Given the description of an element on the screen output the (x, y) to click on. 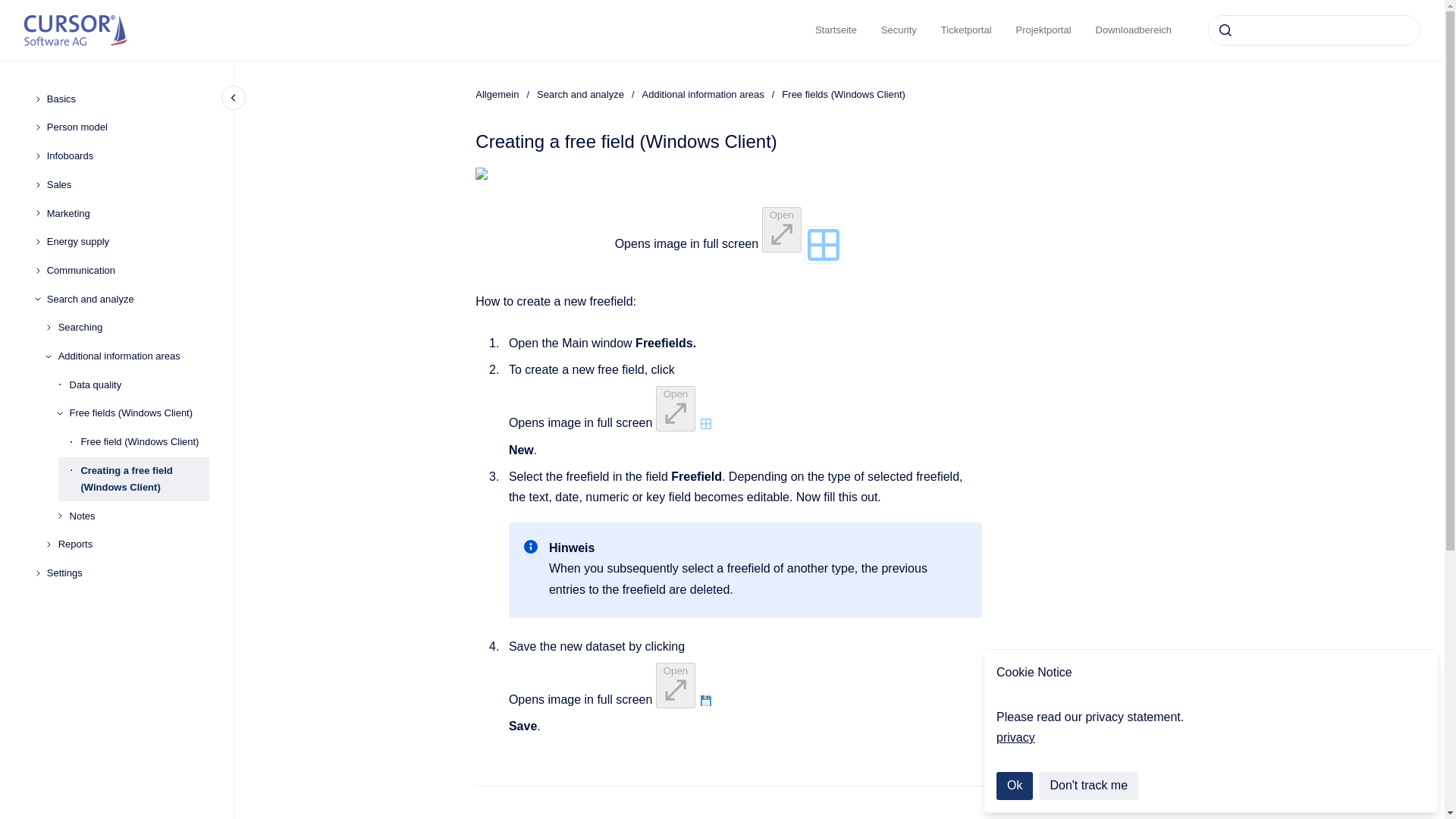
Startseite (836, 29)
Sales (127, 185)
Downloadbereich (1133, 29)
Security (898, 29)
Search and analyze (127, 298)
Person model (127, 127)
Data quality (139, 384)
Marketing (127, 213)
Additional information areas (133, 356)
Energy supply (127, 241)
Searching (133, 327)
privacy (1015, 737)
Go to homepage (76, 30)
Notes (139, 515)
Ticketportal (966, 29)
